Given the description of an element on the screen output the (x, y) to click on. 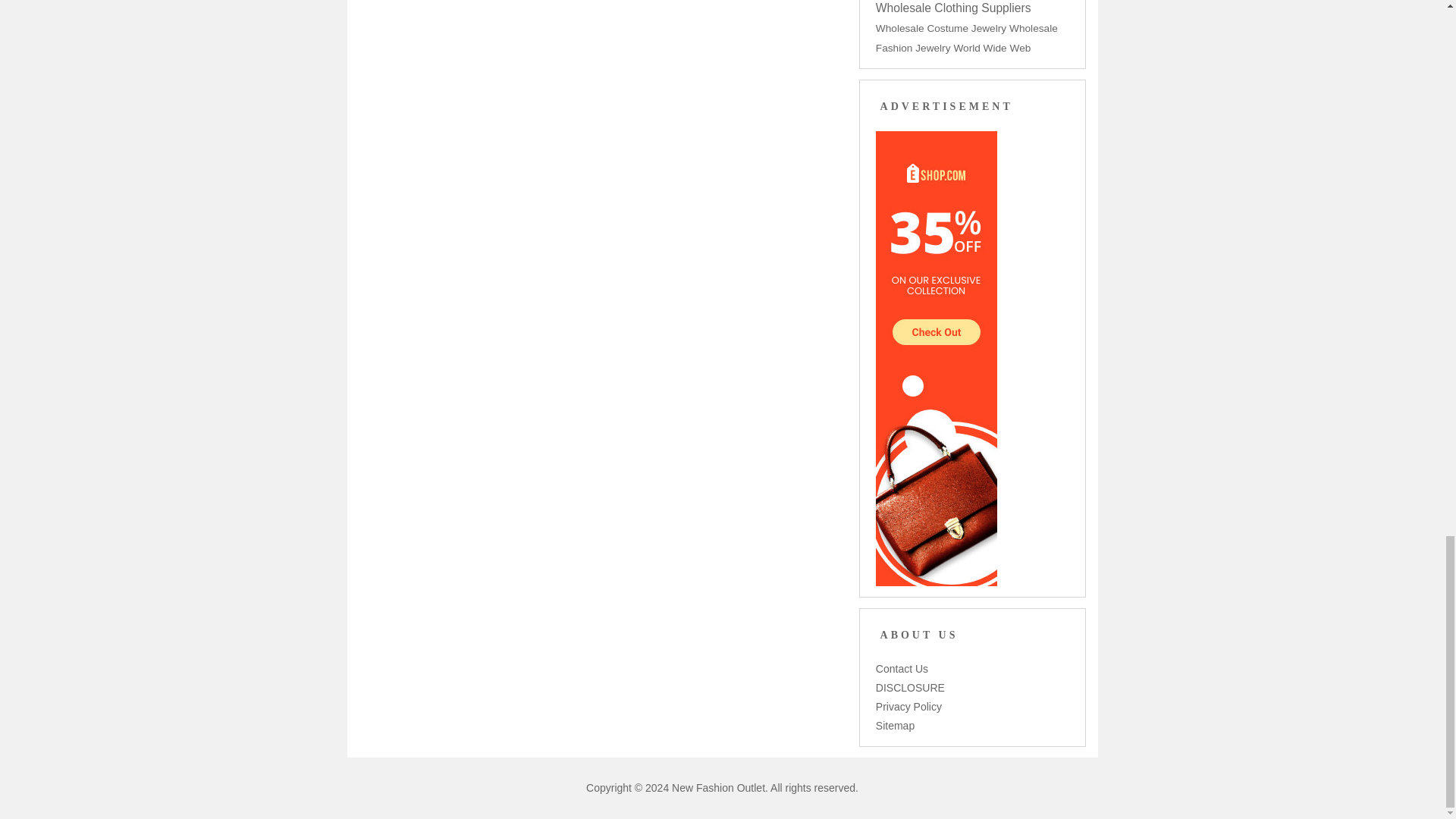
New Fashion Outlet (718, 787)
